Given the description of an element on the screen output the (x, y) to click on. 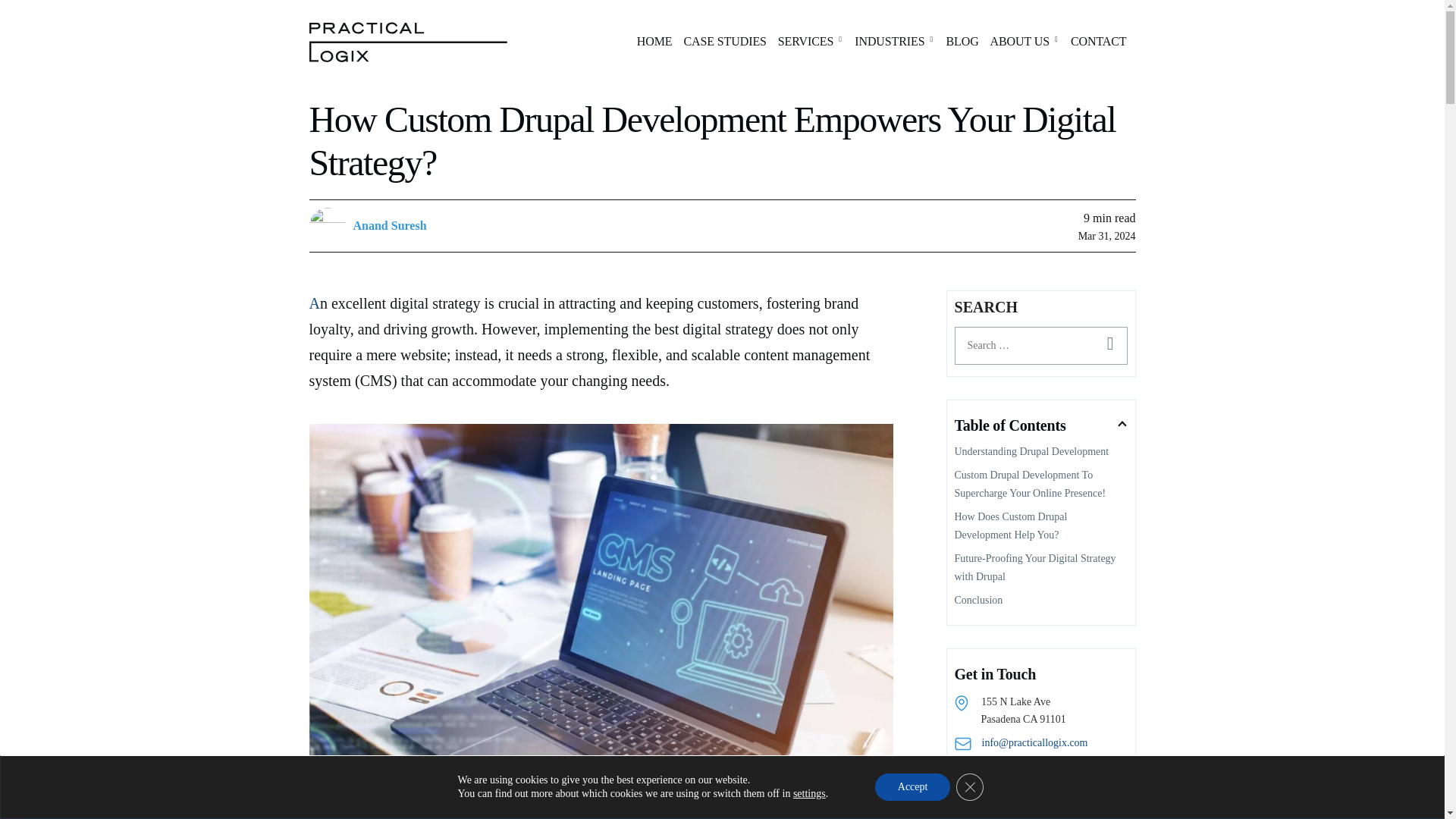
Search (1108, 345)
INDUSTRIES (894, 41)
Search (1108, 345)
CASE STUDIES (723, 41)
